Given the description of an element on the screen output the (x, y) to click on. 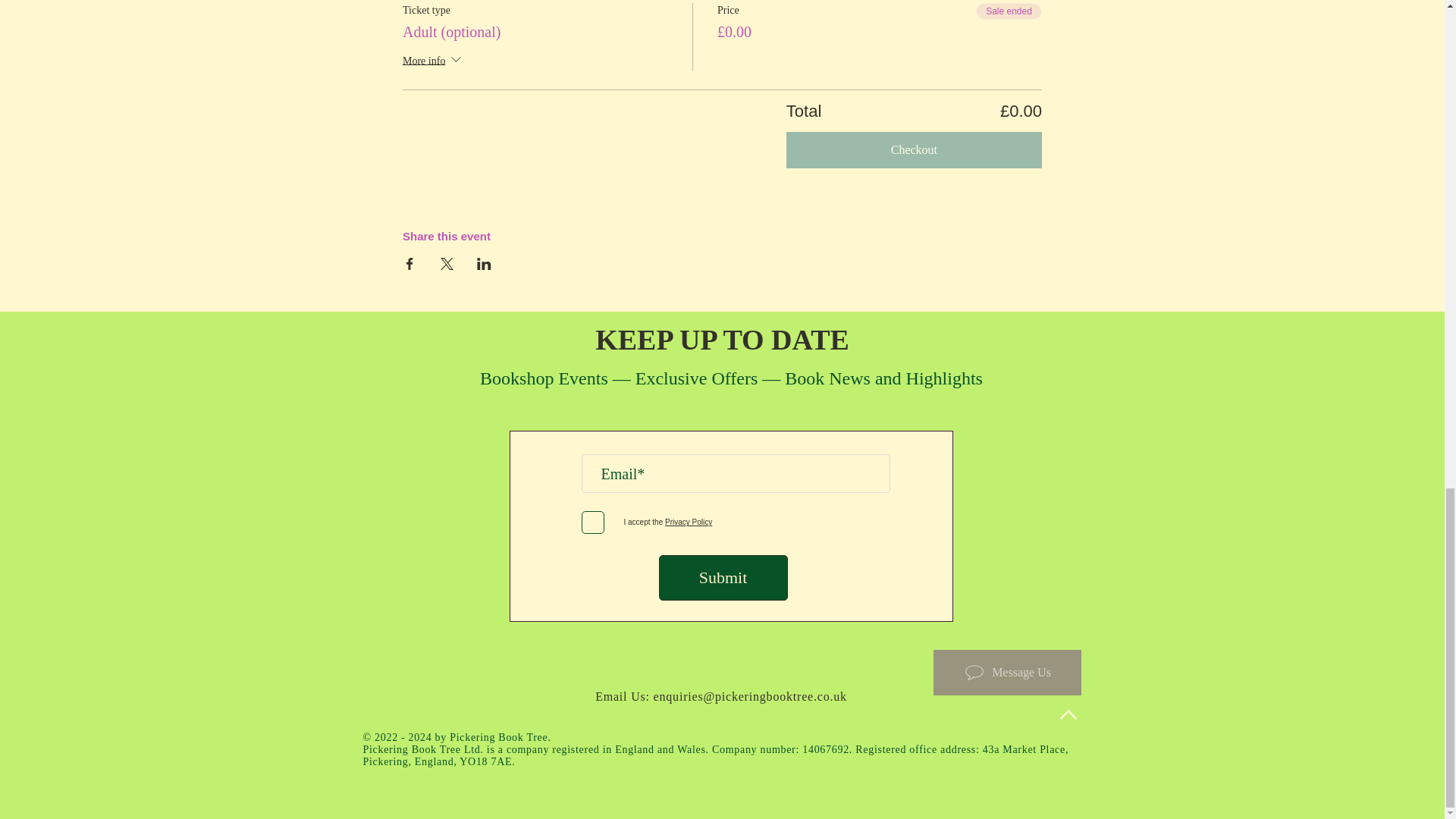
Privacy Policy (686, 521)
Submit (722, 577)
Message Us (1006, 672)
Checkout (914, 149)
More info (433, 61)
